Given the description of an element on the screen output the (x, y) to click on. 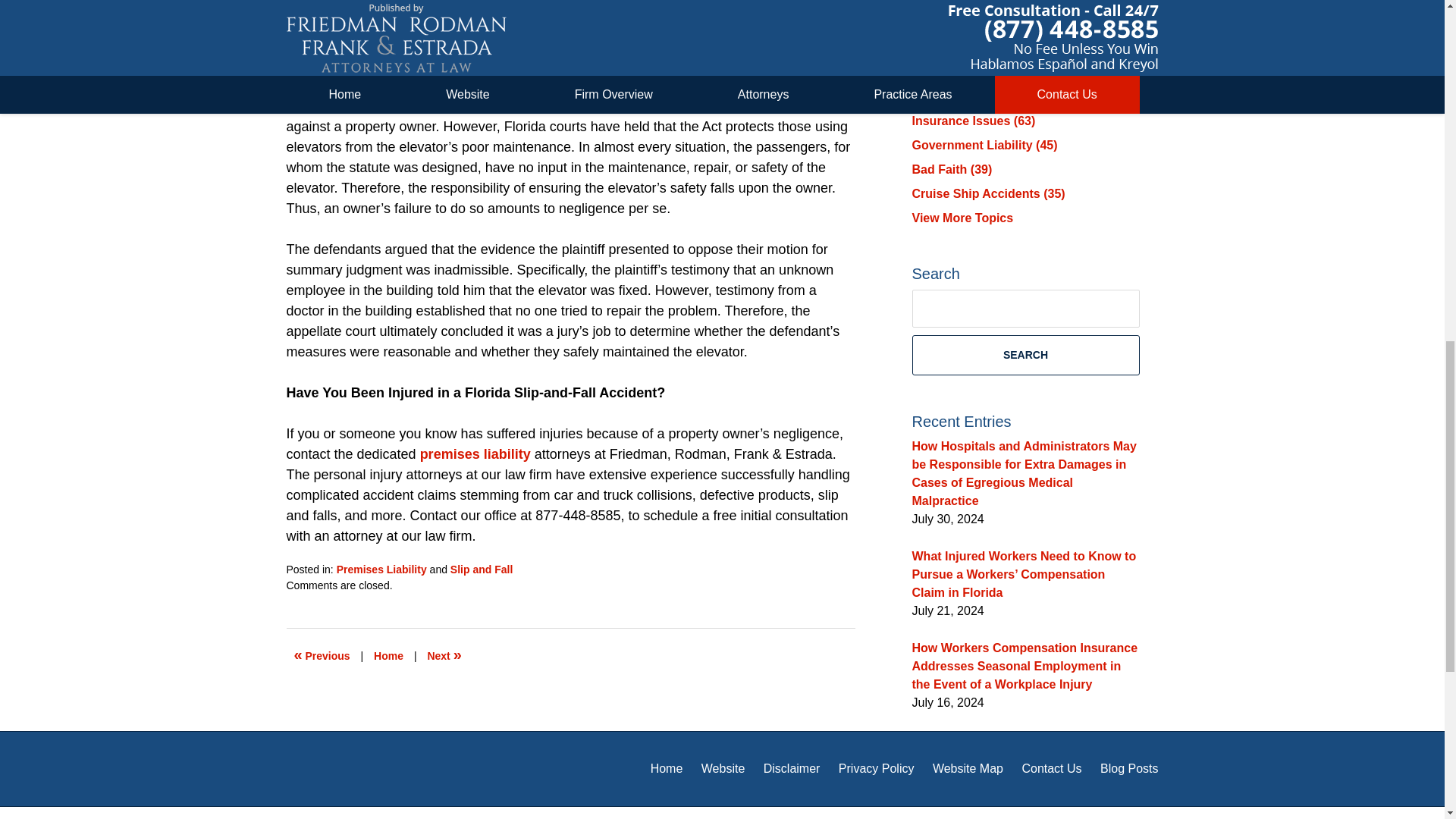
View all posts in Slip and Fall (480, 569)
View More Topics (962, 217)
Slip and Fall (480, 569)
Premises Liability (381, 569)
View all posts in Premises Liability (381, 569)
Home (388, 655)
premises liability (475, 453)
